Given the description of an element on the screen output the (x, y) to click on. 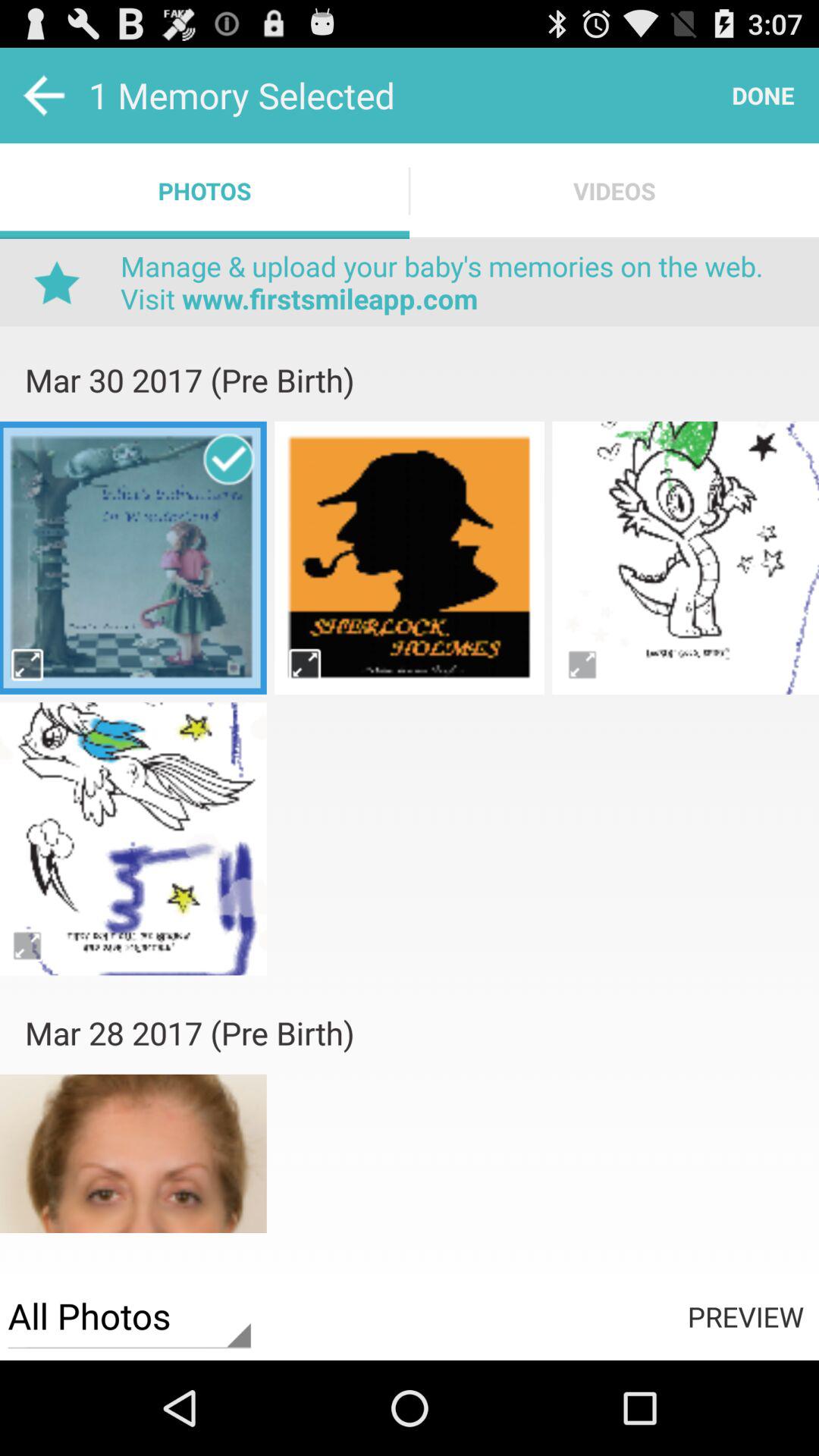
expand memory (304, 664)
